Given the description of an element on the screen output the (x, y) to click on. 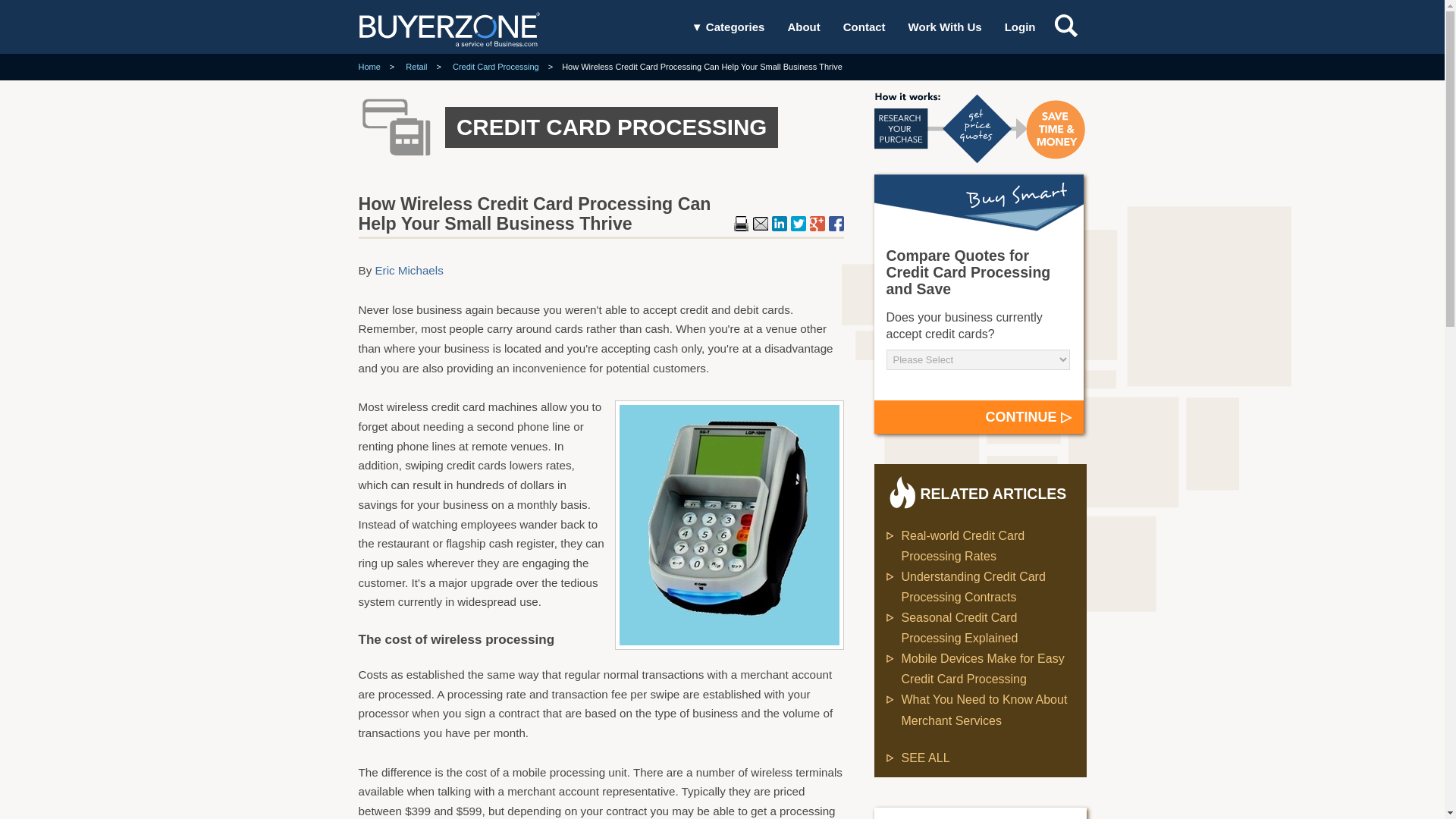
SEE ALL (917, 757)
Mobile Devices Make for Easy Credit Card Processing (982, 668)
Google Plus One (817, 223)
Login (1019, 26)
1st National Payment Solutions (937, 818)
LinkedIn (779, 223)
Credit Card Processing (495, 66)
Facebook (835, 223)
Retail (416, 66)
CONTINUE (978, 417)
